Given the description of an element on the screen output the (x, y) to click on. 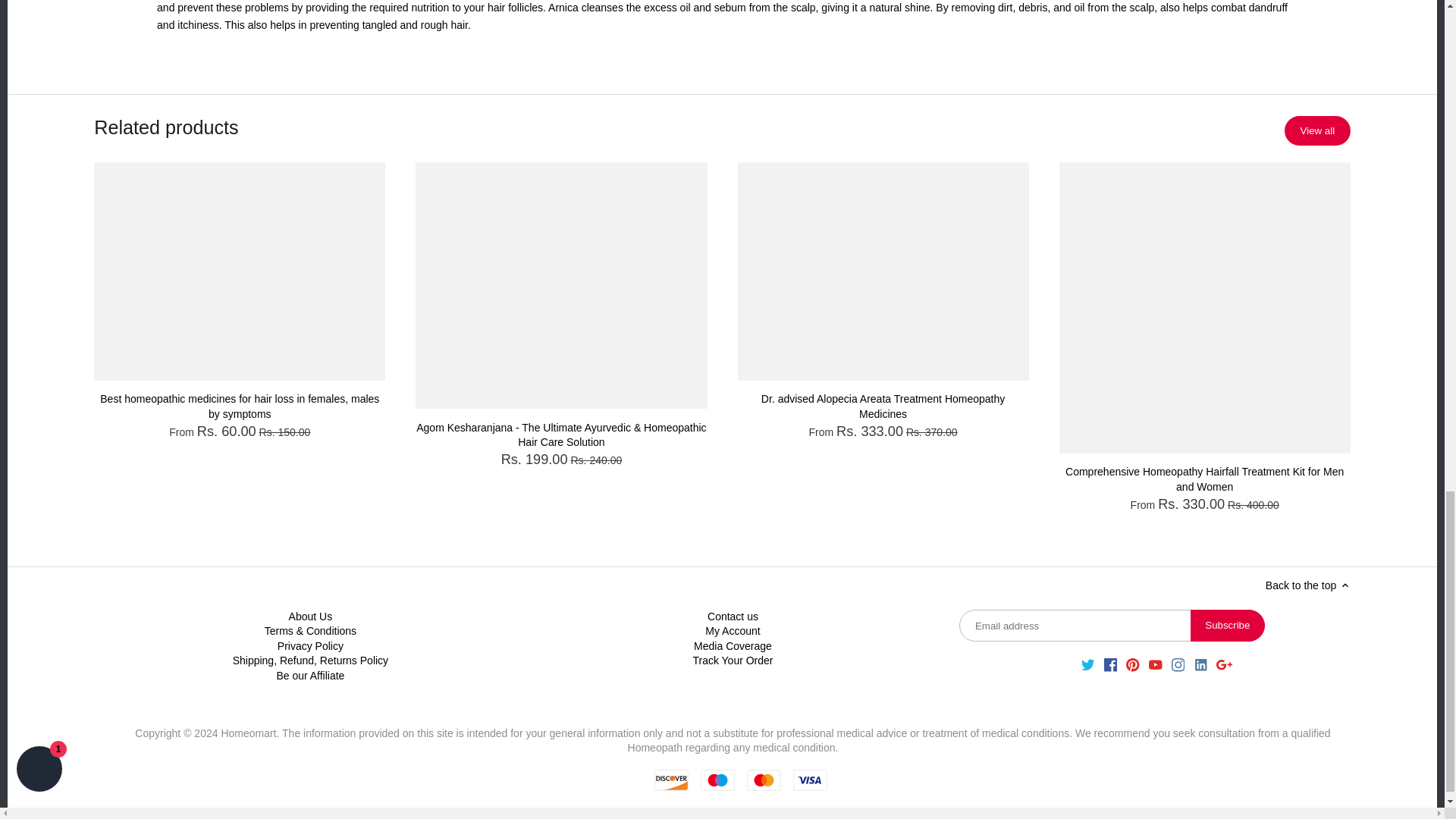
Subscribe (1228, 625)
